Given the description of an element on the screen output the (x, y) to click on. 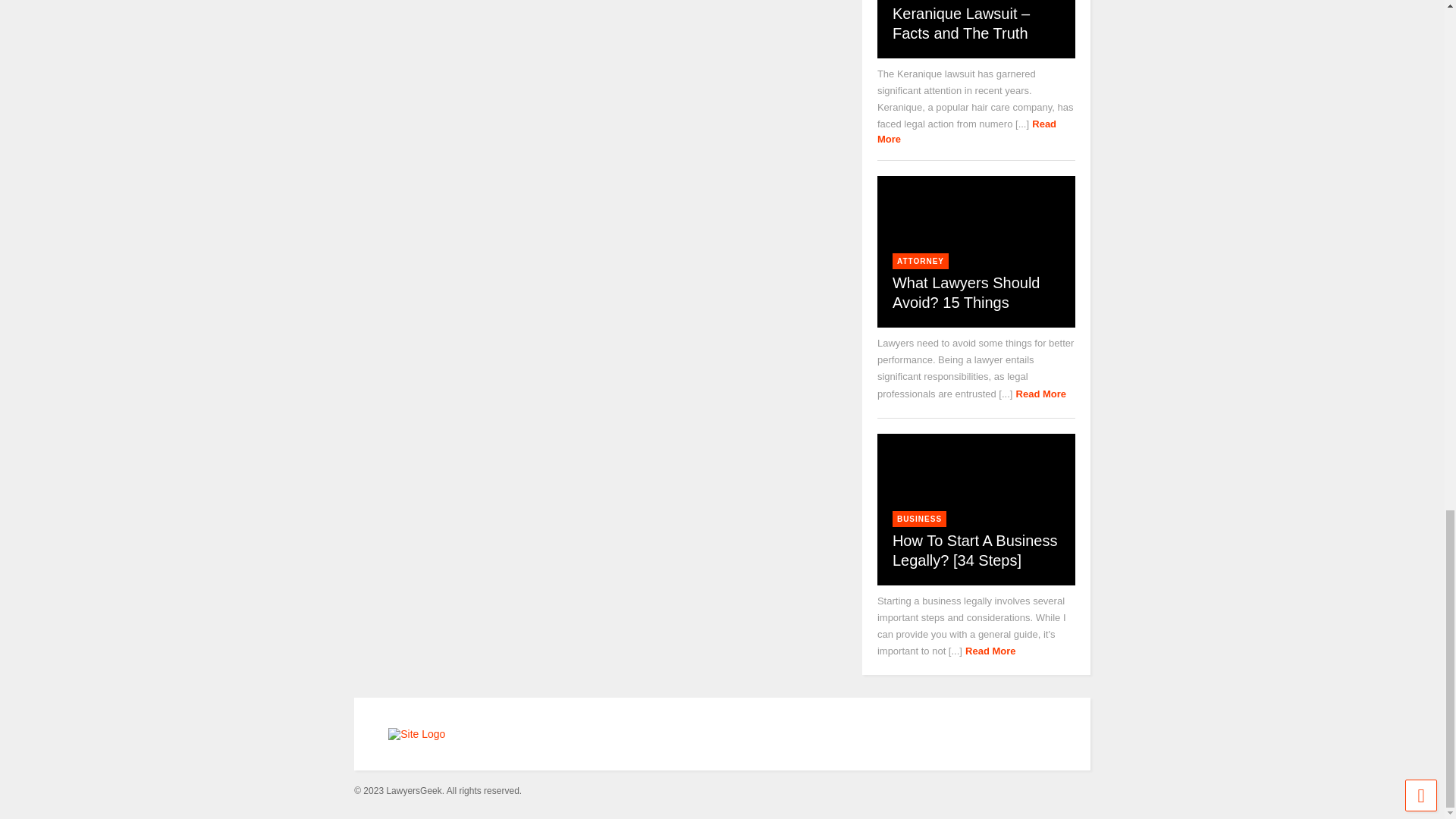
What Lawyers Should Avoid? 15 Things (966, 292)
